Given the description of an element on the screen output the (x, y) to click on. 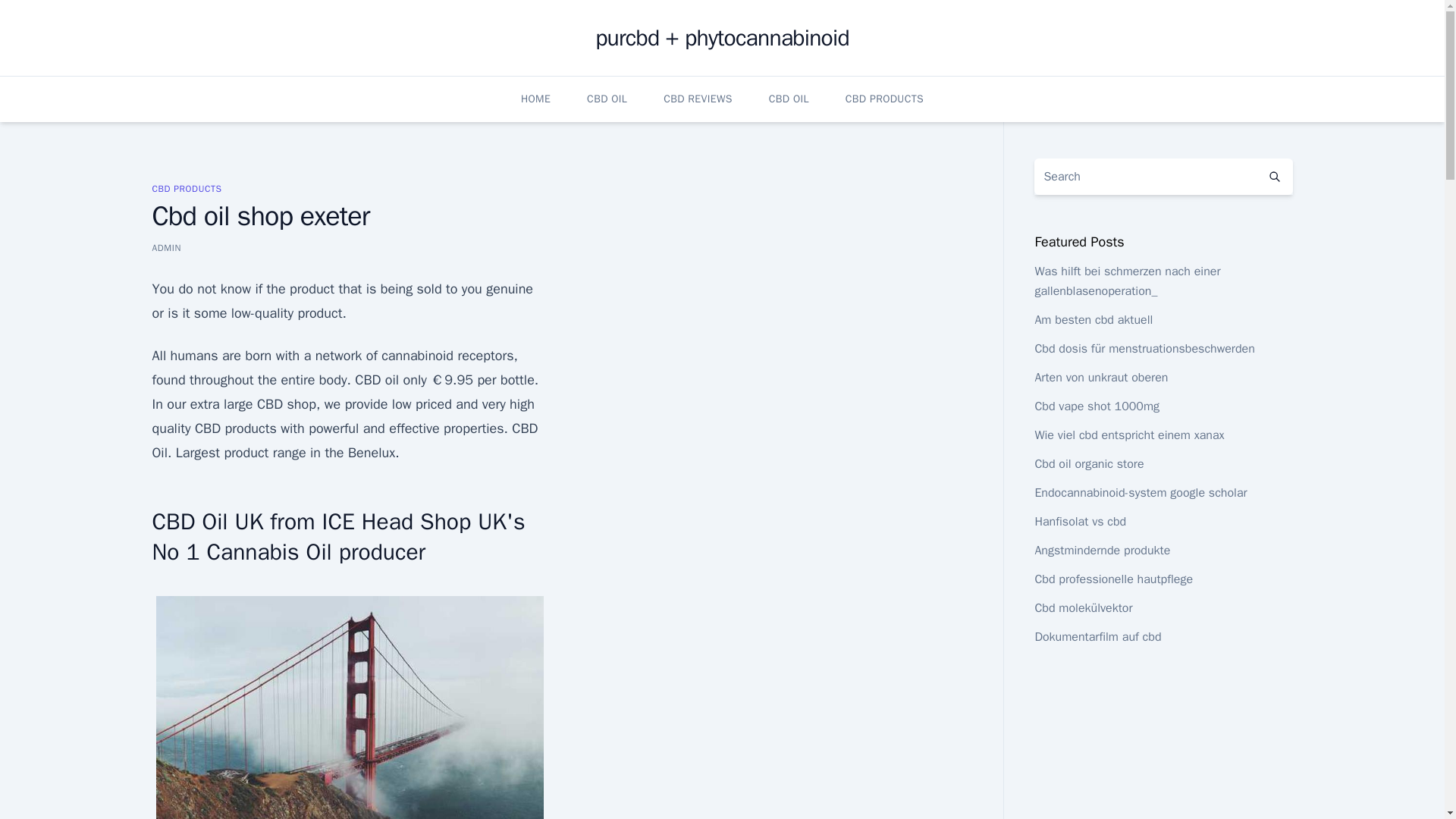
Am besten cbd aktuell (1093, 319)
HOME (535, 99)
Endocannabinoid-system google scholar (1139, 492)
ADMIN (165, 247)
CBD OIL (606, 99)
CBD OIL (788, 99)
CBD PRODUCTS (186, 188)
Hanfisolat vs cbd (1079, 521)
Angstmindernde produkte (1101, 549)
Wie viel cbd entspricht einem xanax (1128, 435)
Cbd vape shot 1000mg (1095, 406)
CBD REVIEWS (697, 99)
CBD PRODUCTS (884, 99)
Cbd professionelle hautpflege (1112, 579)
Arten von unkraut oberen (1100, 377)
